Given the description of an element on the screen output the (x, y) to click on. 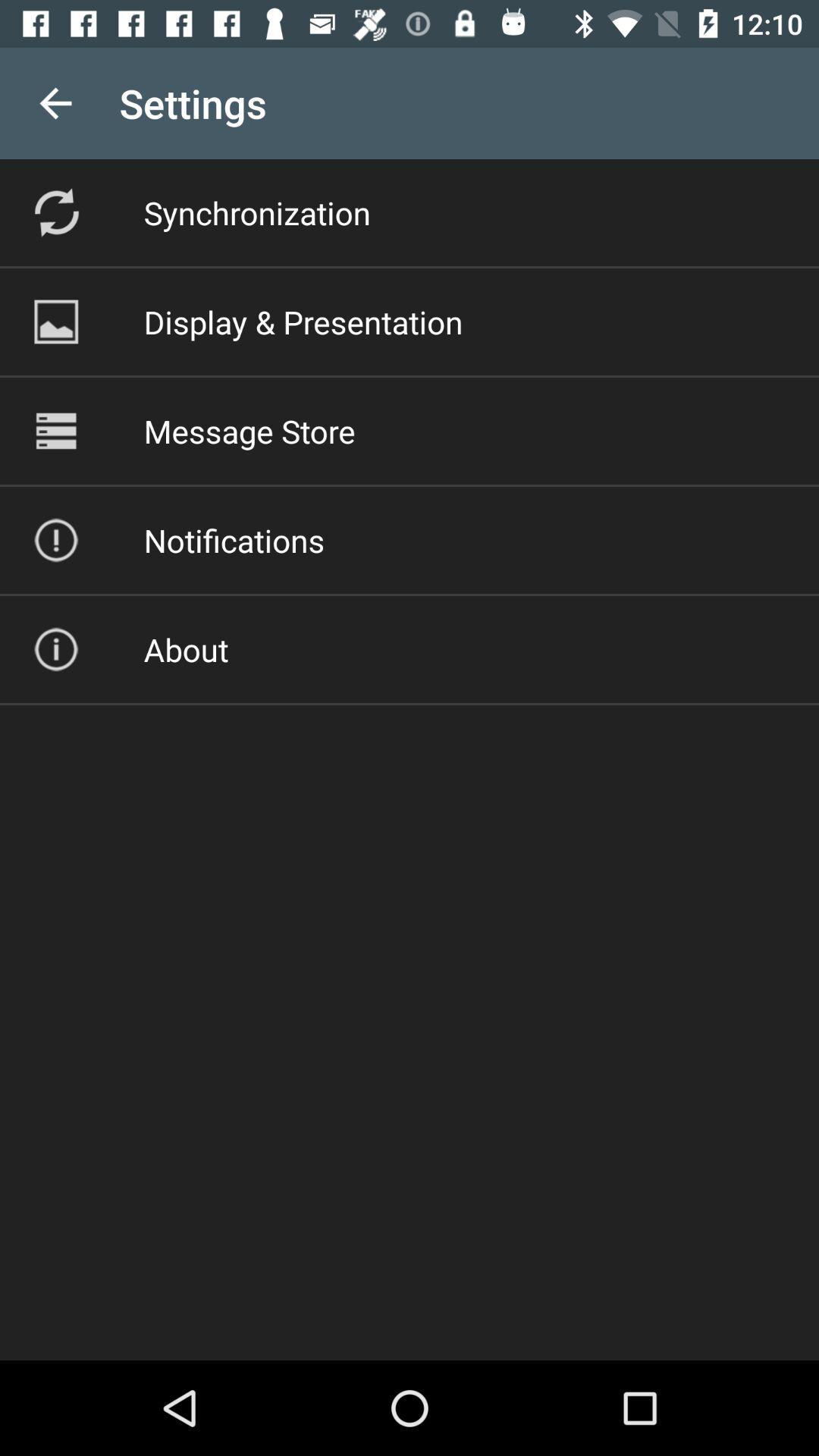
scroll to synchronization (256, 212)
